Given the description of an element on the screen output the (x, y) to click on. 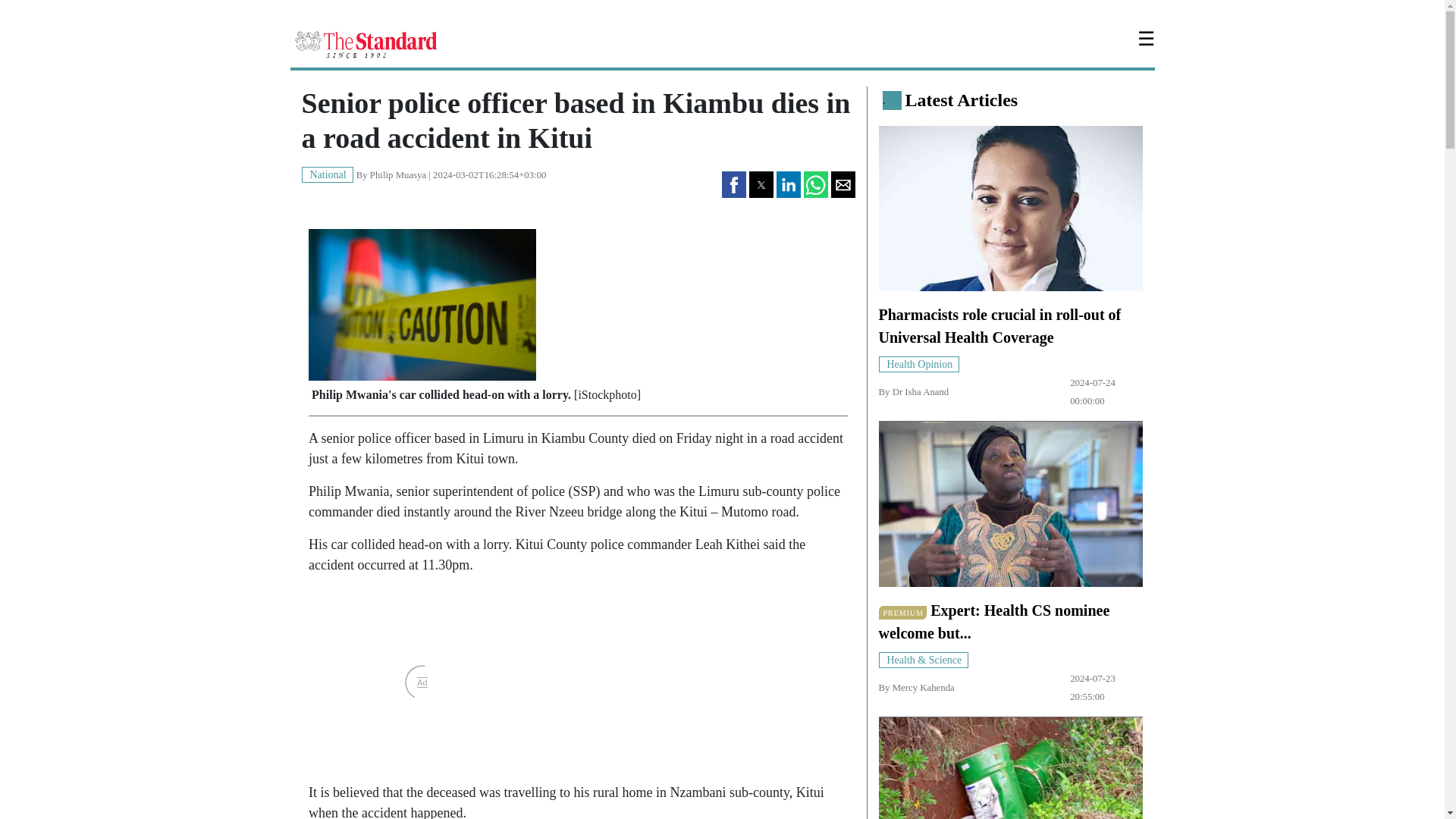
Philip Muasya (397, 174)
Health Opinion (918, 363)
Latest Articles (961, 99)
Dr Isha Anand (920, 391)
Mercy Kahenda (923, 687)
Expert: Health CS nominee welcome but... (993, 621)
National (327, 173)
